Given the description of an element on the screen output the (x, y) to click on. 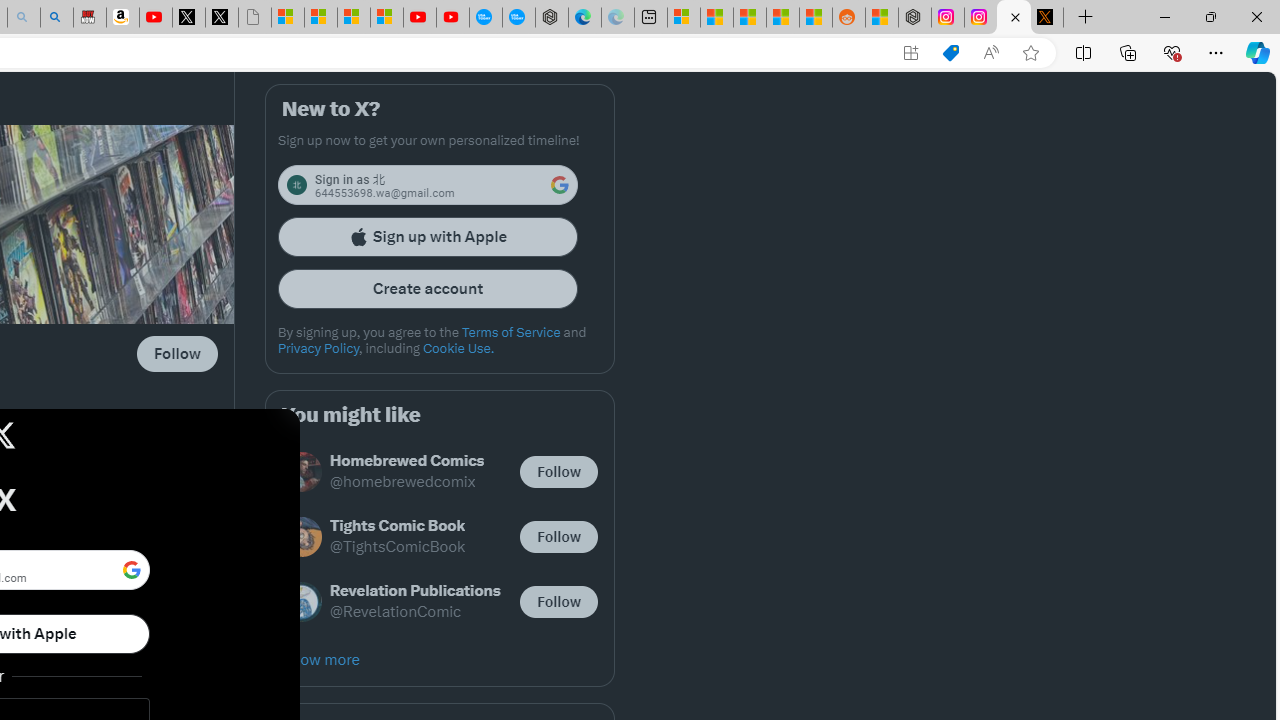
The most popular Google 'how to' searches (519, 17)
Day 1: Arriving in Yemen (surreal to be here) - YouTube (155, 17)
Amazon Echo Dot PNG - Search Images (56, 17)
Nordace - Nordace has arrived Hong Kong (552, 17)
Nordace - Summer Adventures 2024 (914, 17)
